Given the description of an element on the screen output the (x, y) to click on. 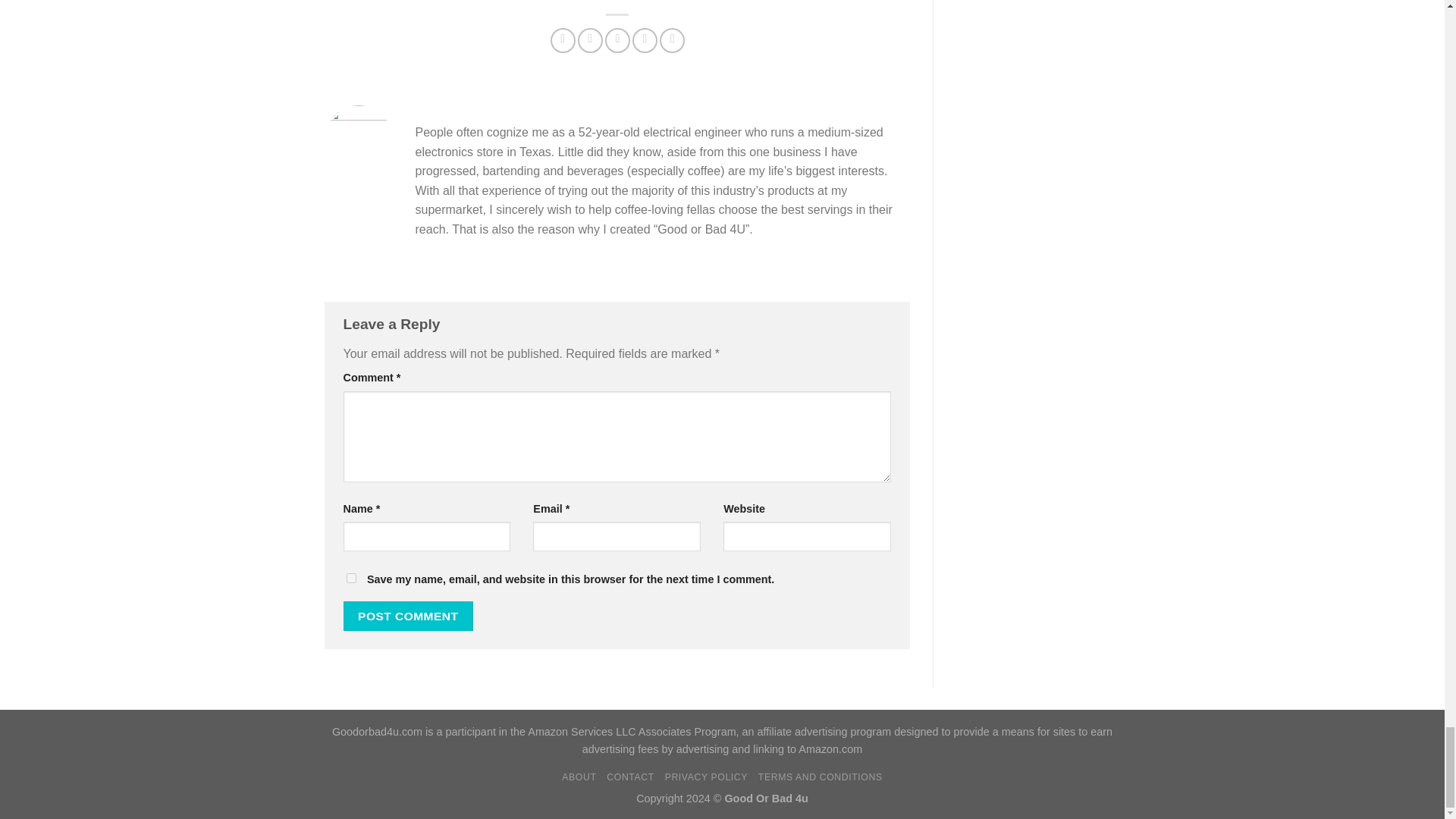
Post Comment (407, 615)
Share on Facebook (562, 40)
yes (350, 578)
Post Comment (407, 615)
